Given the description of an element on the screen output the (x, y) to click on. 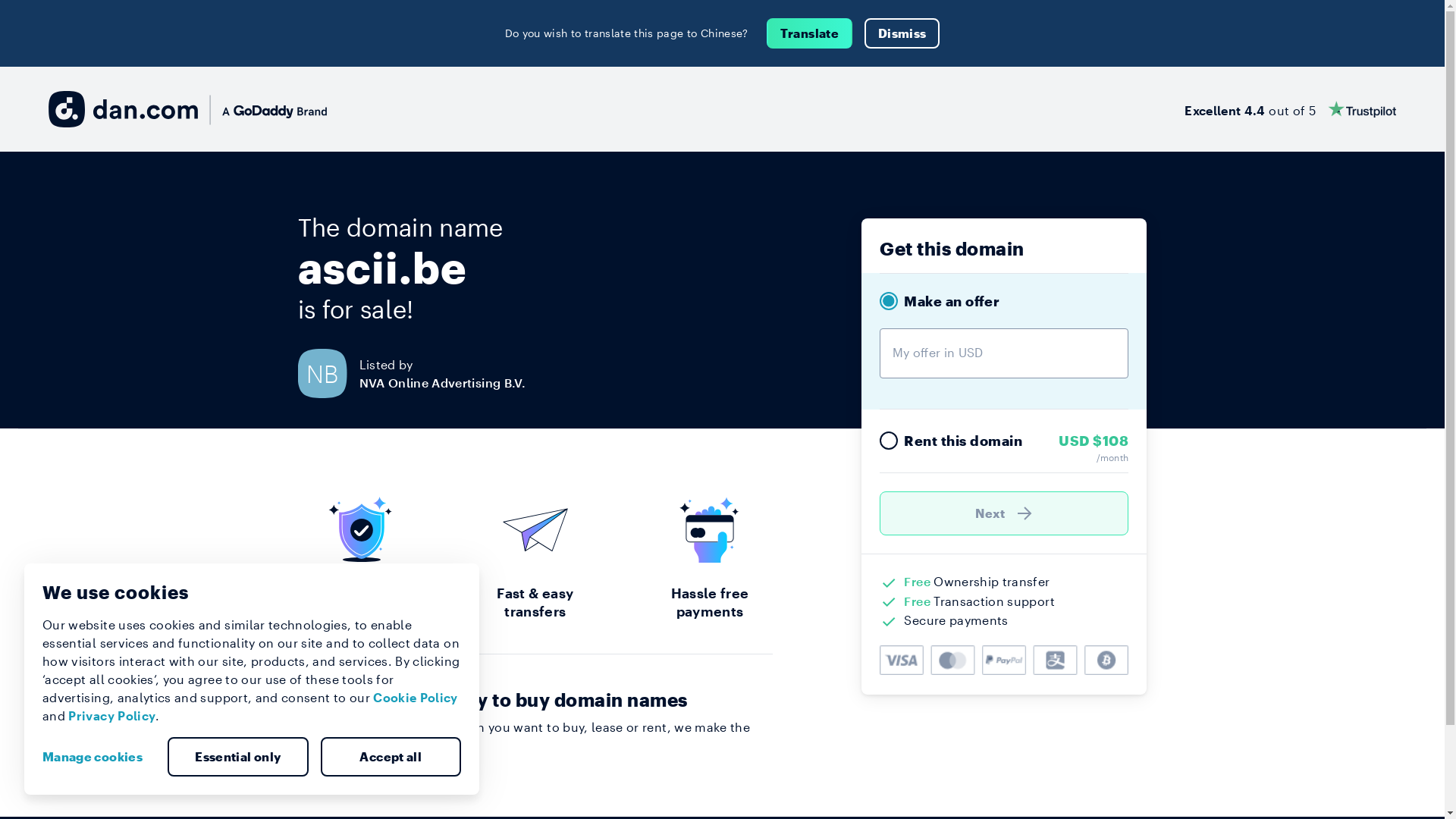
Next
) Element type: text (1003, 513)
Dismiss Element type: text (901, 33)
Manage cookies Element type: text (98, 756)
Accept all Element type: text (390, 756)
Translate Element type: text (809, 33)
Essential only Element type: text (237, 756)
Privacy Policy Element type: text (111, 715)
Excellent 4.4 out of 5 Element type: text (1290, 109)
Cookie Policy Element type: text (415, 697)
